Given the description of an element on the screen output the (x, y) to click on. 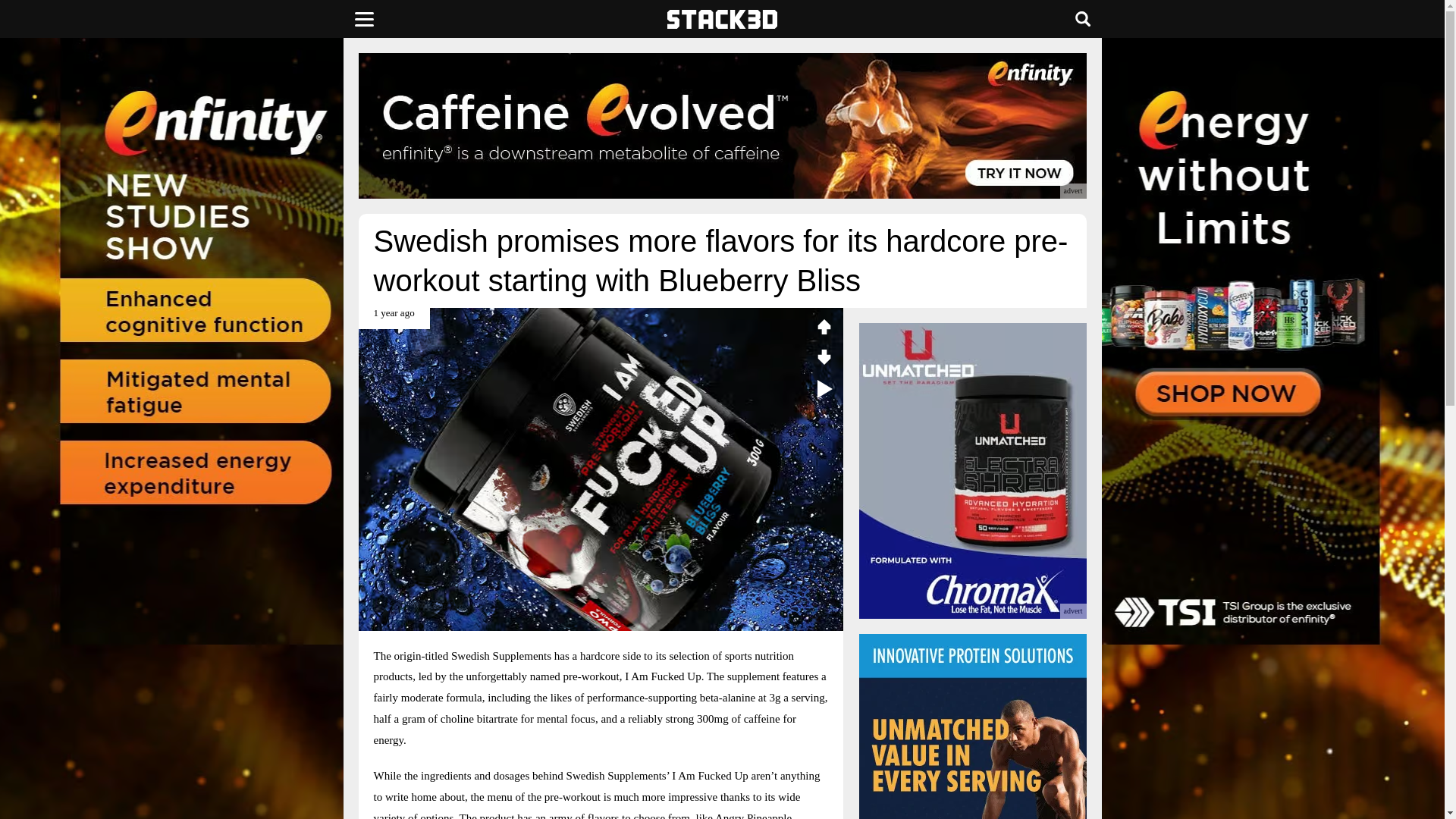
January 20th 2023 (393, 318)
